Given the description of an element on the screen output the (x, y) to click on. 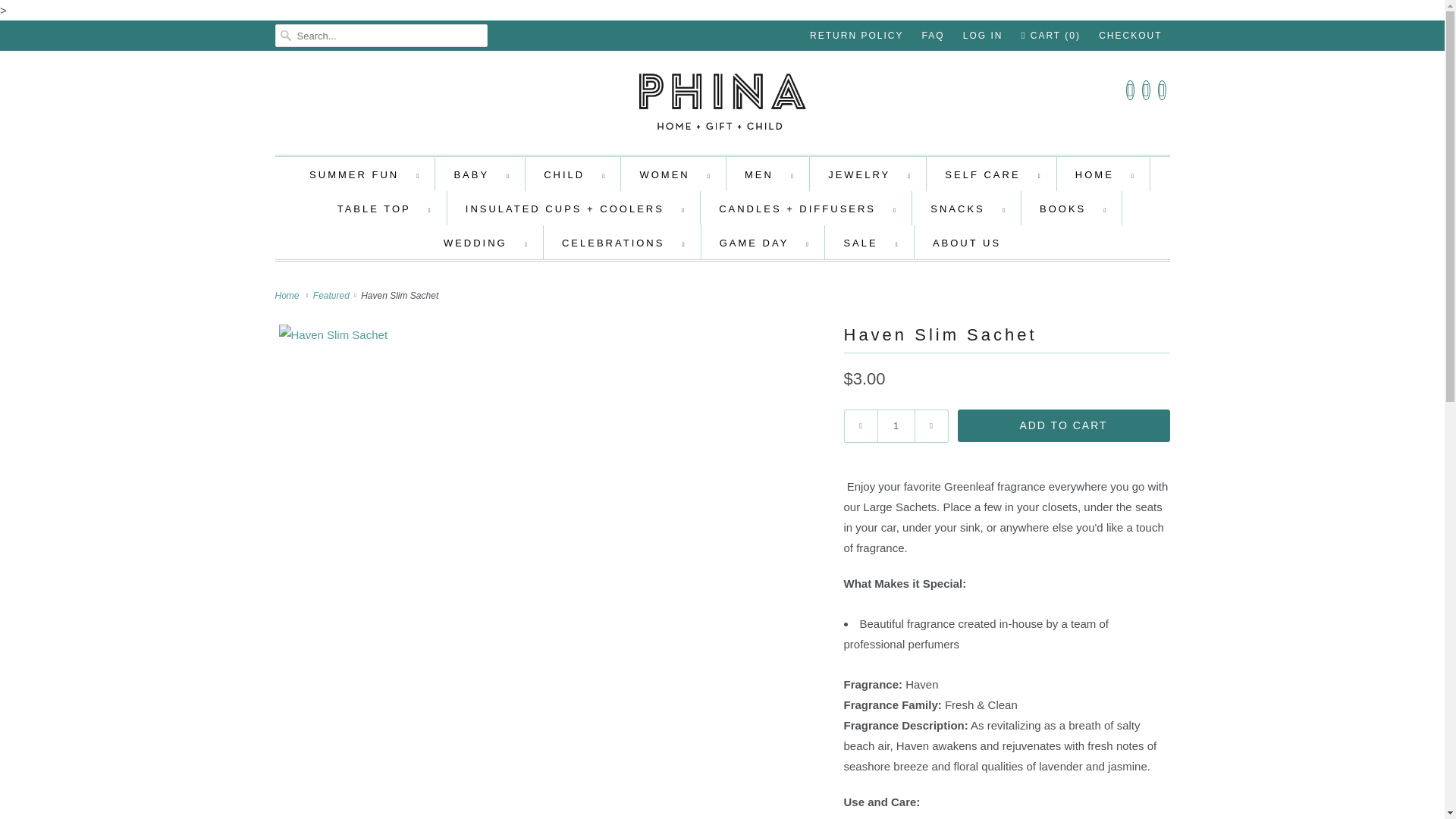
CHECKOUT (1130, 35)
1 (895, 426)
LOG IN (982, 35)
RETURN POLICY (855, 35)
FAQ (932, 35)
Phina Shop (288, 295)
Featured (332, 295)
Phina Shop (722, 106)
